Given the description of an element on the screen output the (x, y) to click on. 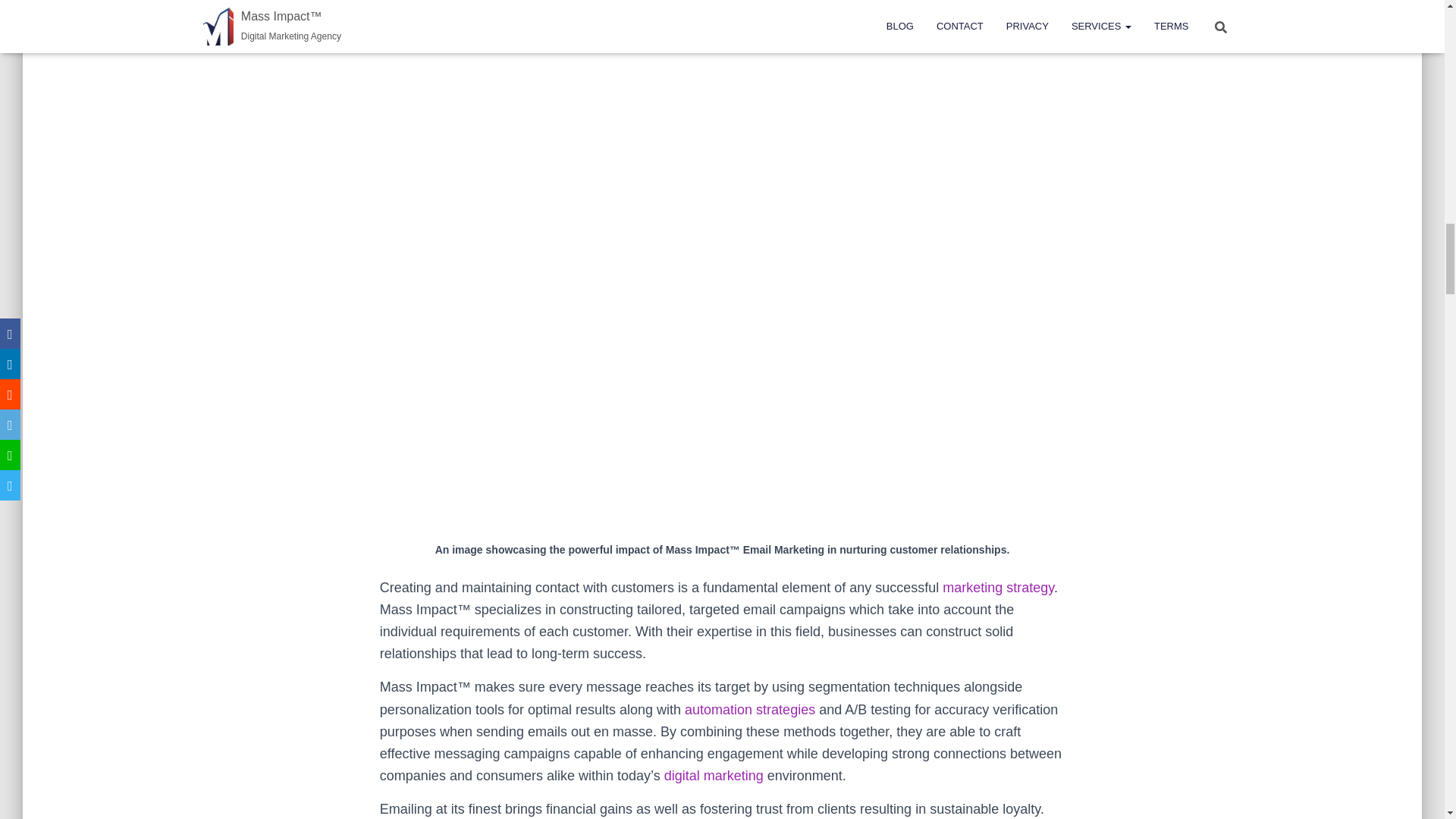
marketing strategy (998, 587)
automation strategies (749, 709)
digital marketing (712, 775)
